Given the description of an element on the screen output the (x, y) to click on. 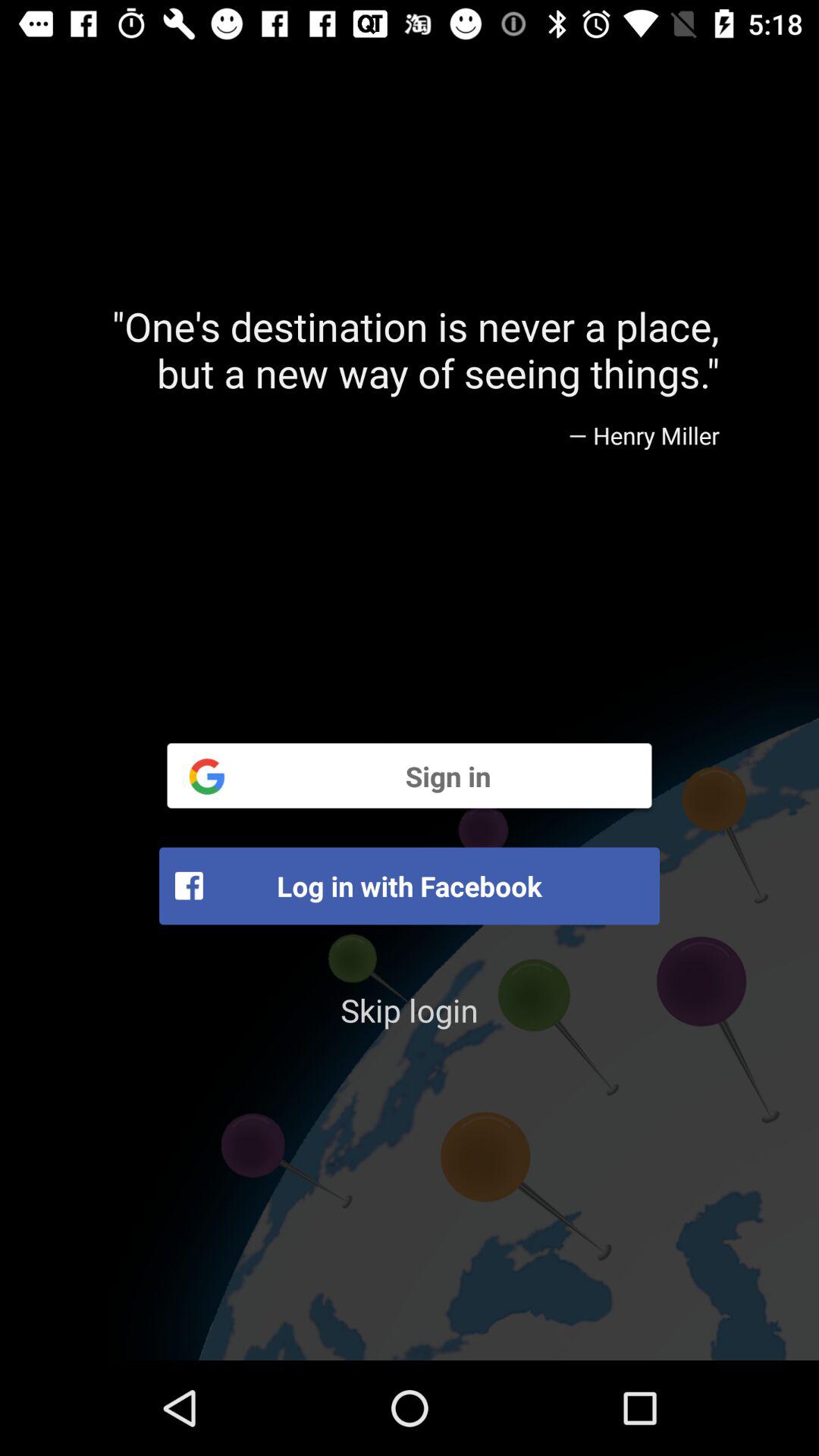
select the log in with (409, 885)
